Given the description of an element on the screen output the (x, y) to click on. 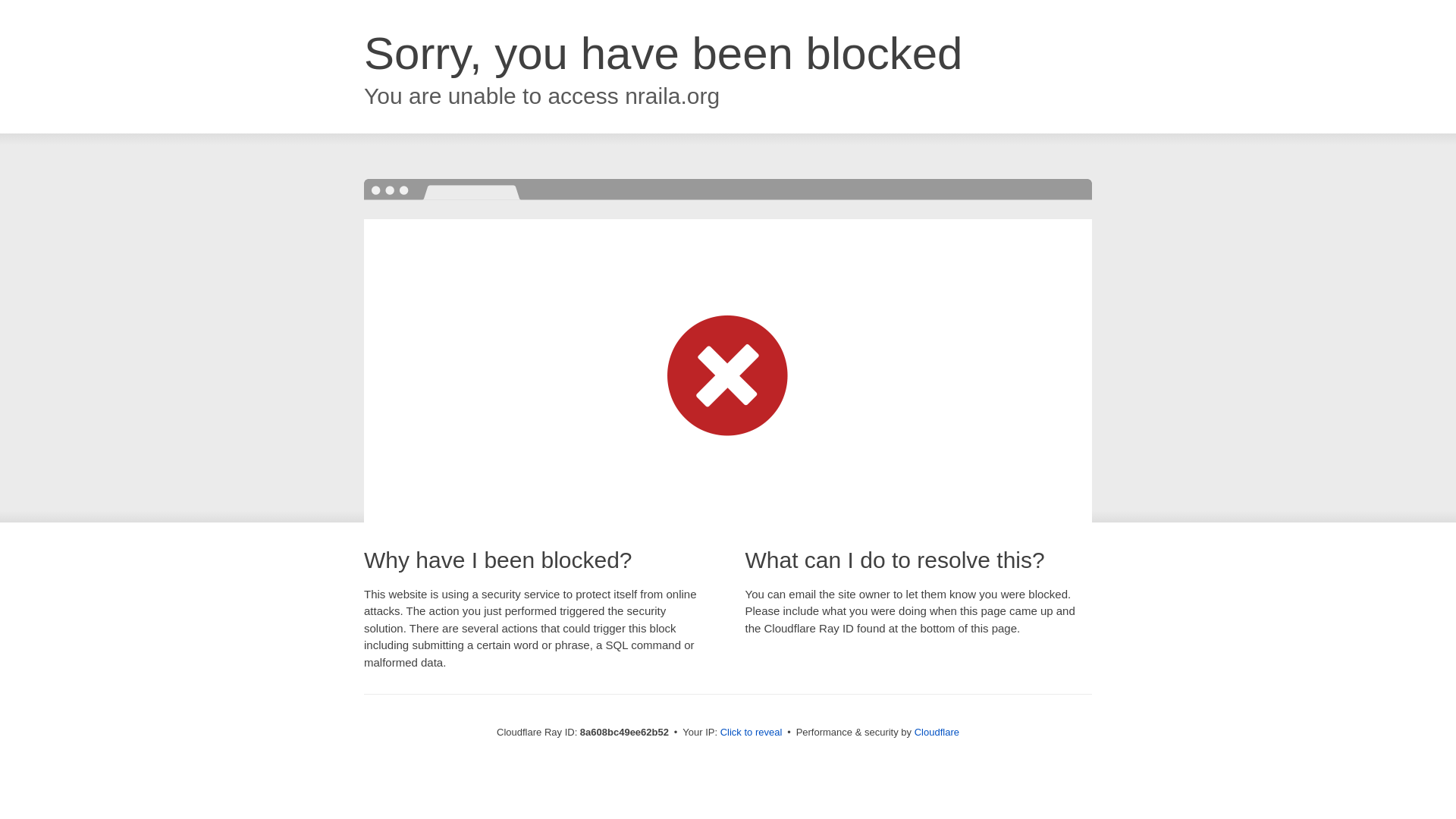
Click to reveal (751, 732)
Cloudflare (936, 731)
